Given the description of an element on the screen output the (x, y) to click on. 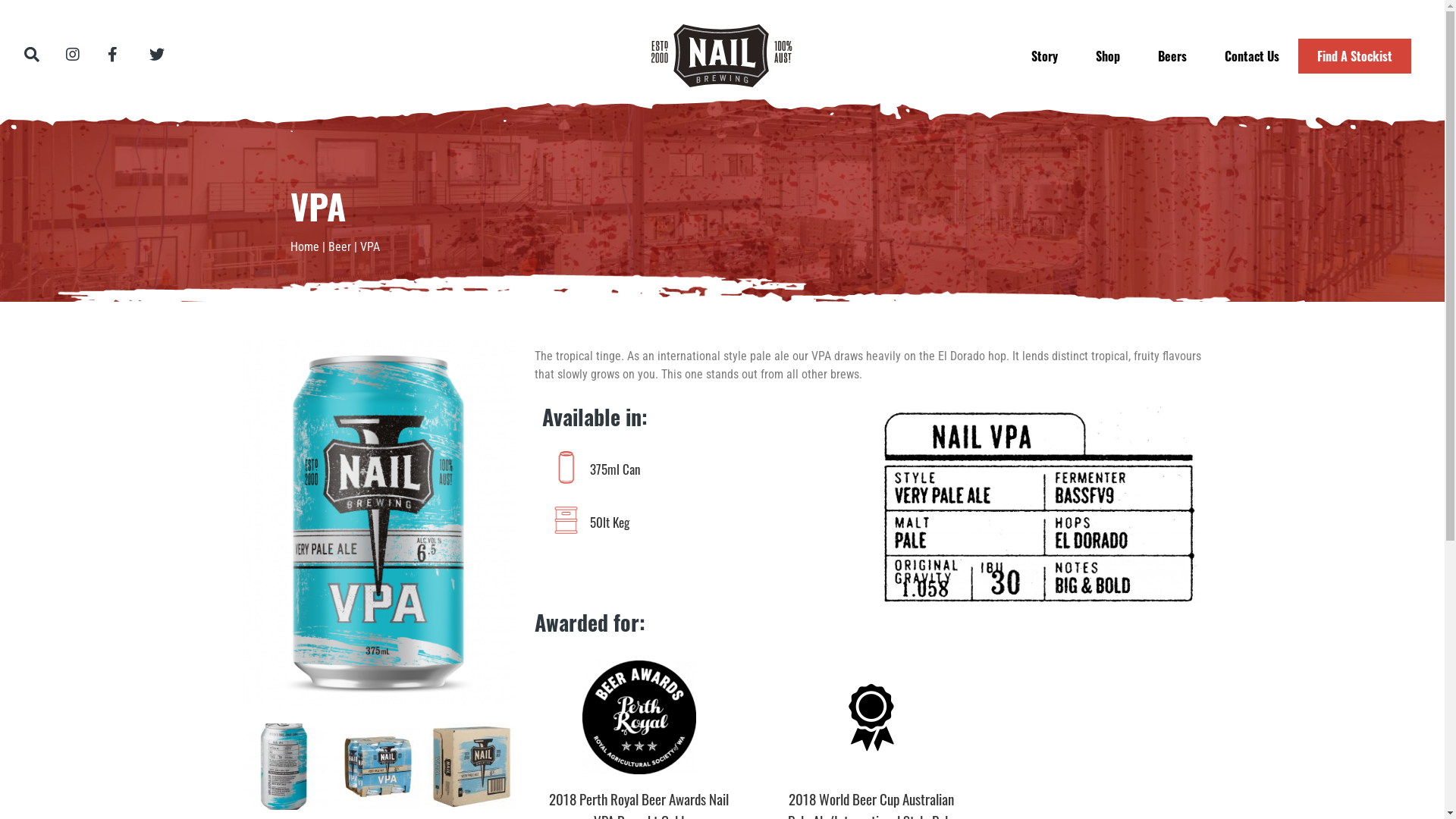
Home Element type: text (303, 246)
Find A Stockist Element type: text (1354, 55)
Beers Element type: text (1172, 55)
Contact Us Element type: text (1251, 55)
Story Element type: text (1044, 55)
Shop Element type: text (1107, 55)
Beer Element type: text (338, 246)
